Given the description of an element on the screen output the (x, y) to click on. 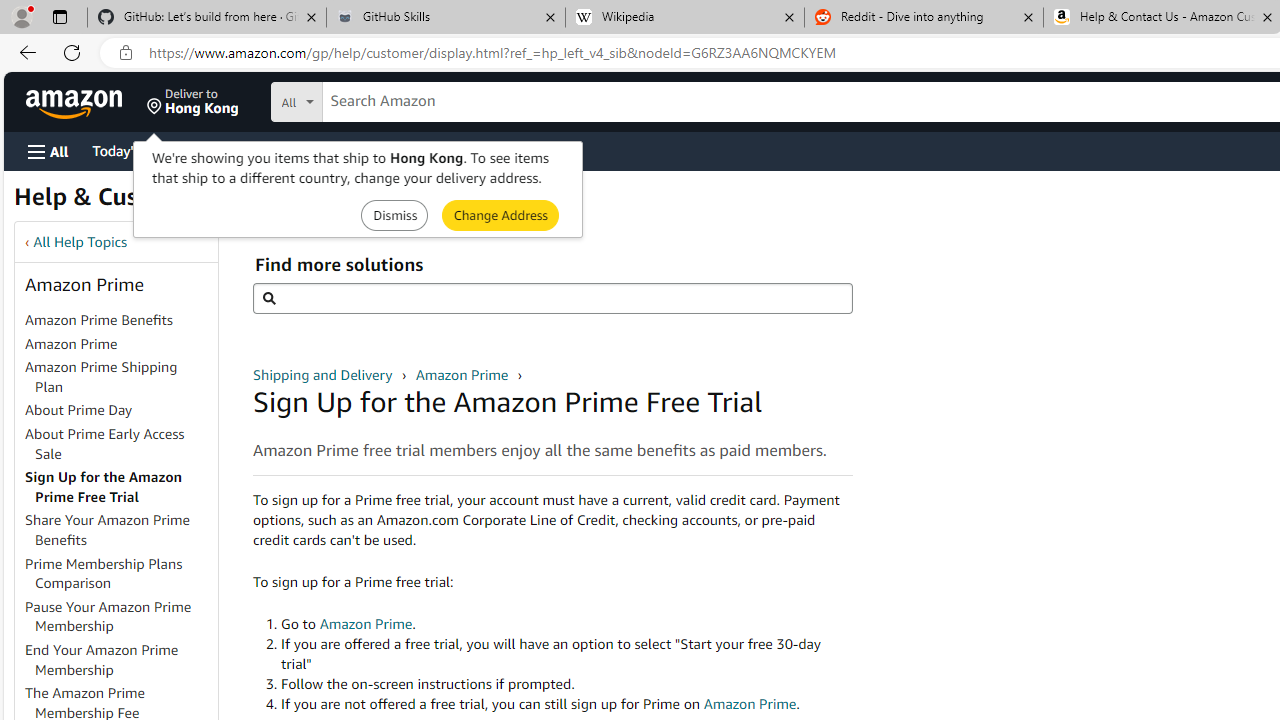
Amazon Prime Benefits (98, 320)
About Prime Early Access Sale (105, 443)
Deliver to Hong Kong (193, 101)
Back (24, 52)
Search in (371, 102)
Sell (509, 150)
Reddit - Dive into anything (924, 17)
View site information (125, 53)
Submit (499, 214)
End Your Amazon Prime Membership (102, 659)
Help & Customer Service (154, 201)
Amazon Prime (71, 343)
Skip to main content (86, 100)
Amazon Prime  (463, 374)
Prime Membership Plans Comparison (104, 573)
